Given the description of an element on the screen output the (x, y) to click on. 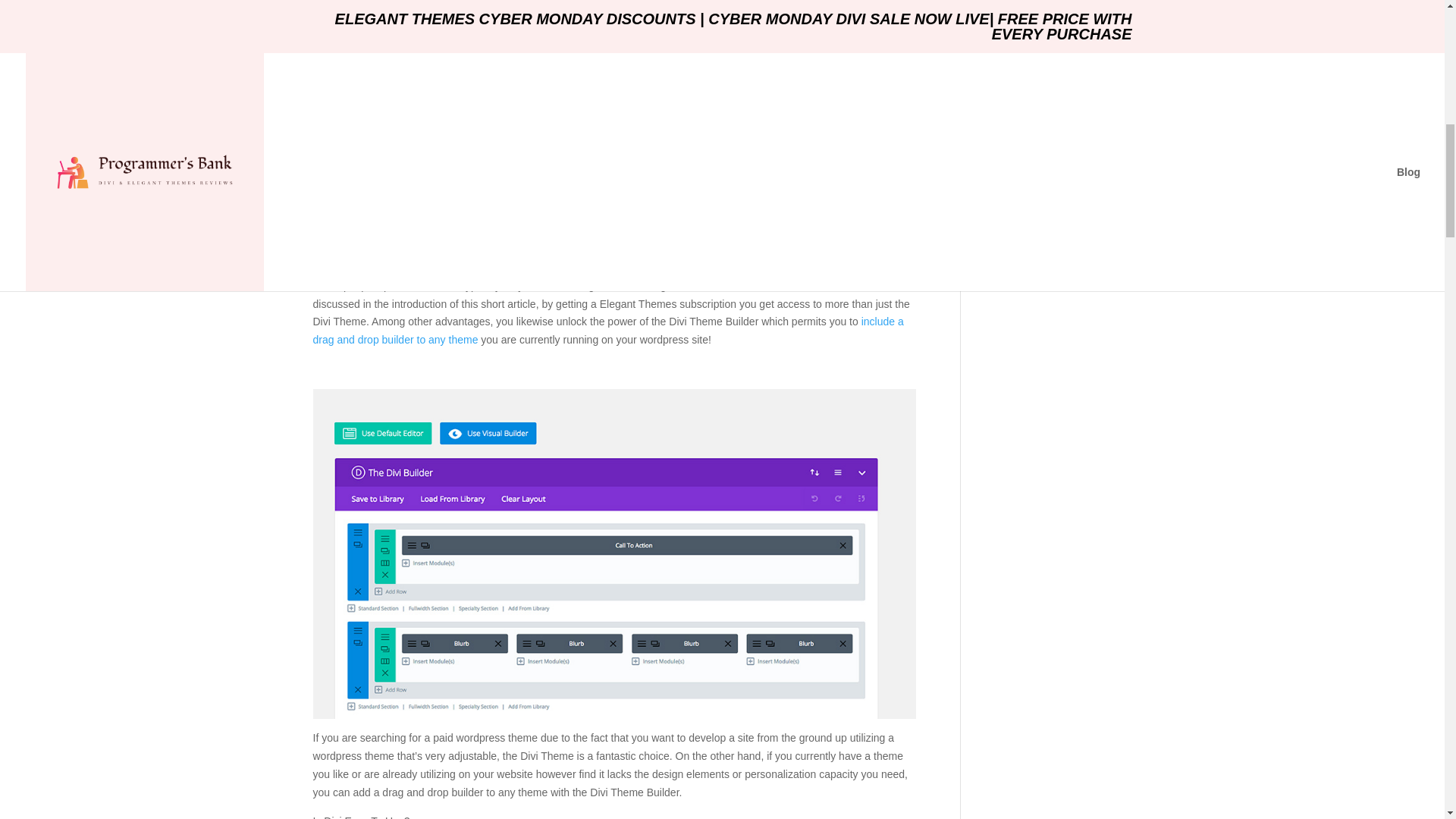
include a drag and drop builder to any theme (607, 330)
